Given the description of an element on the screen output the (x, y) to click on. 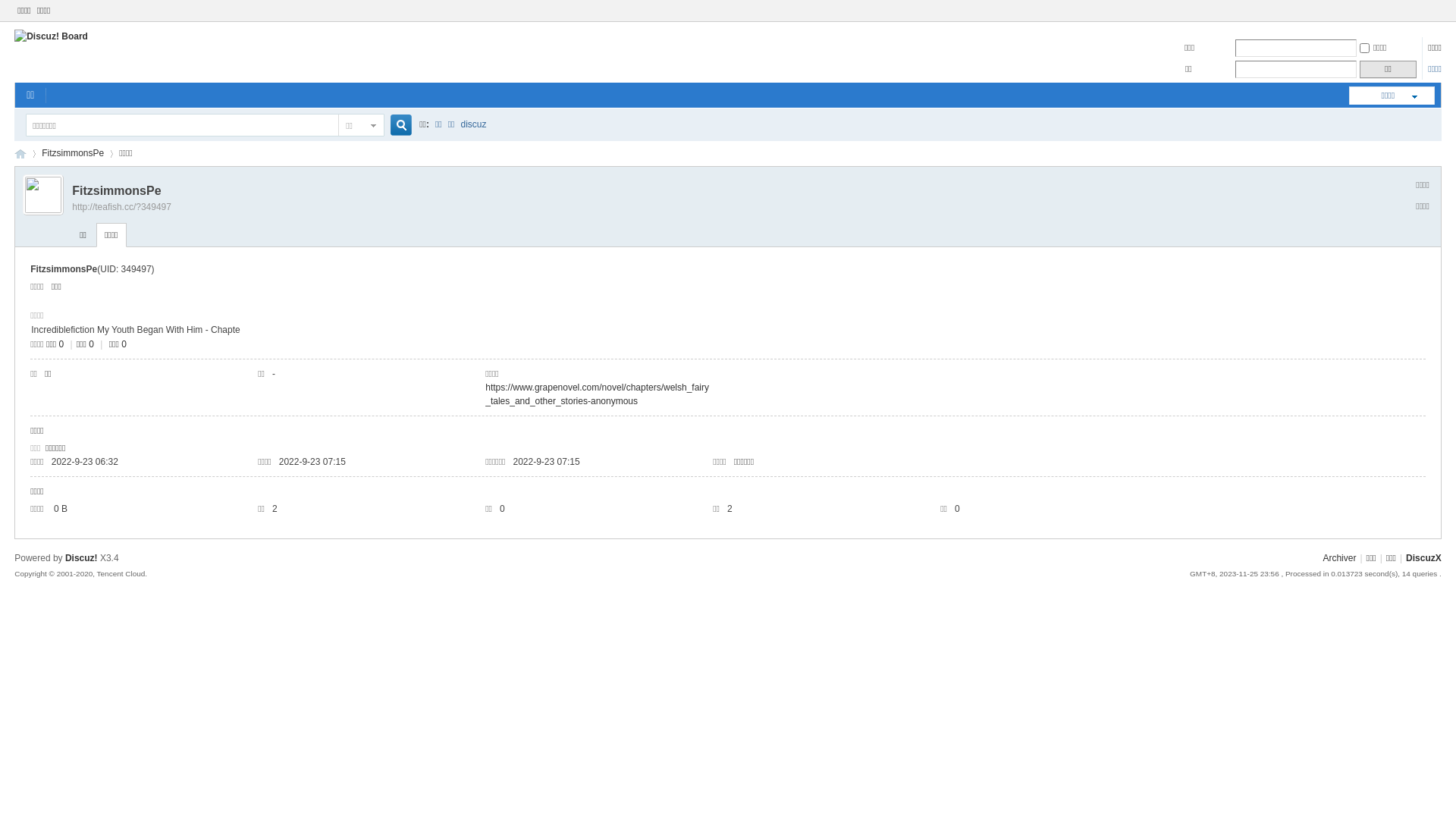
Archiver Element type: text (1338, 557)
true Element type: text (395, 125)
FitzsimmonsPe Element type: text (72, 153)
discuz Element type: text (473, 124)
Discuz! Element type: text (81, 557)
DiscuzX Element type: text (1423, 557)
http://teafish.cc/?349497 Element type: text (121, 206)
Discuz! Board Element type: hover (50, 36)
Discuz! Board Element type: text (20, 153)
